Given the description of an element on the screen output the (x, y) to click on. 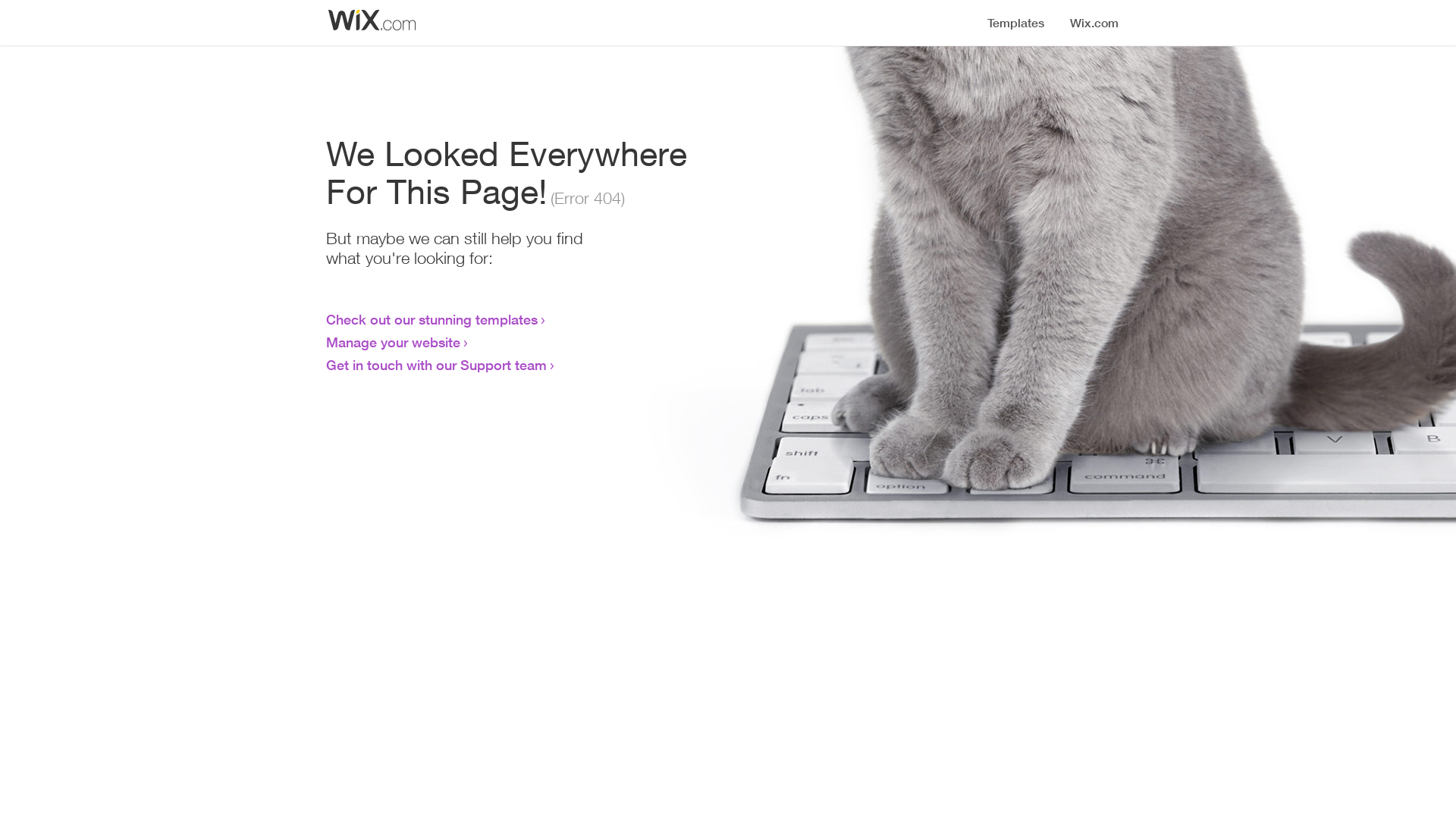
Get in touch with our Support team Element type: text (436, 364)
Manage your website Element type: text (393, 341)
Check out our stunning templates Element type: text (431, 318)
